Given the description of an element on the screen output the (x, y) to click on. 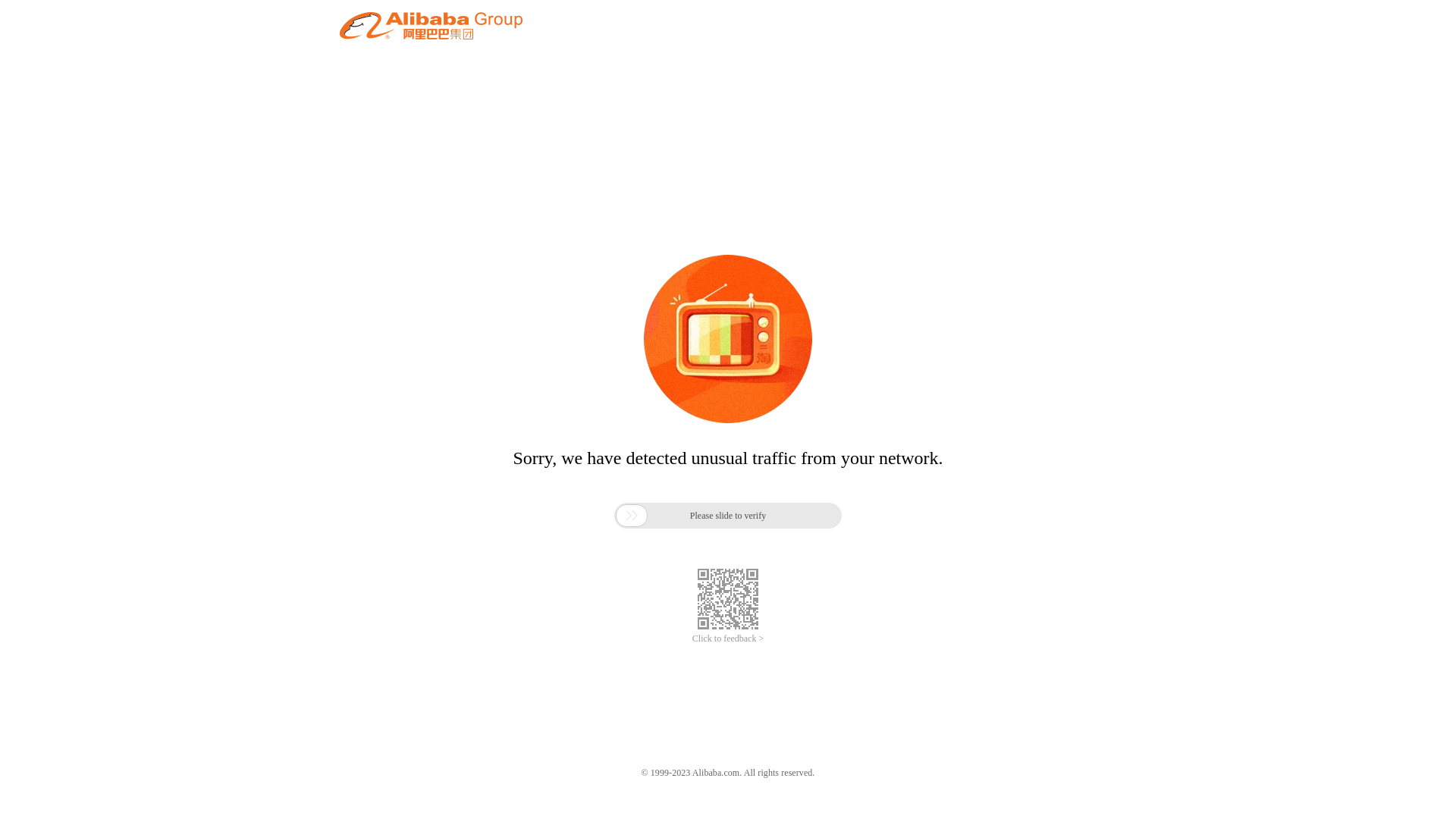
Click to feedback > Element type: text (727, 638)
